Given the description of an element on the screen output the (x, y) to click on. 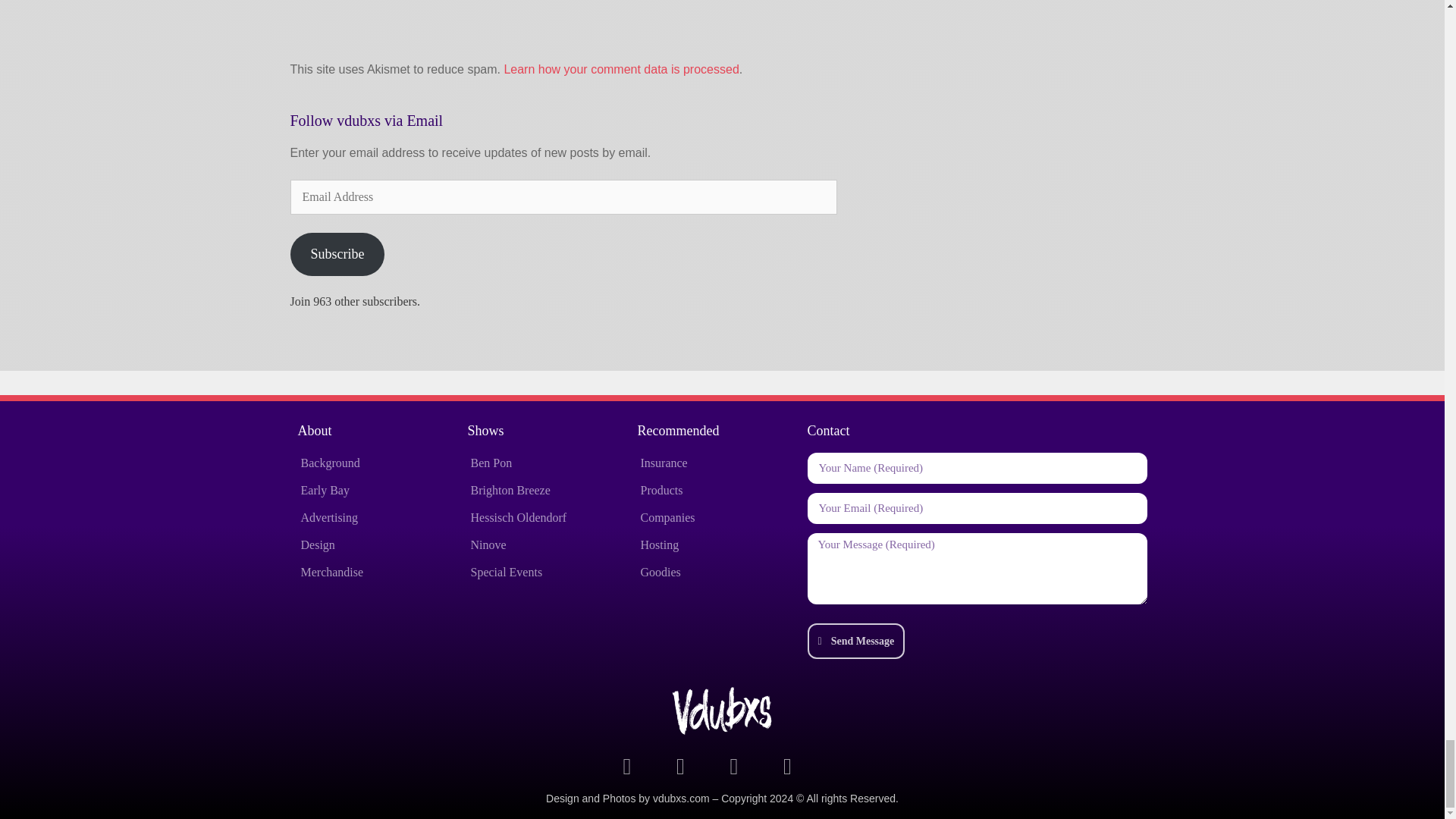
Comment Form (577, 28)
